Given the description of an element on the screen output the (x, y) to click on. 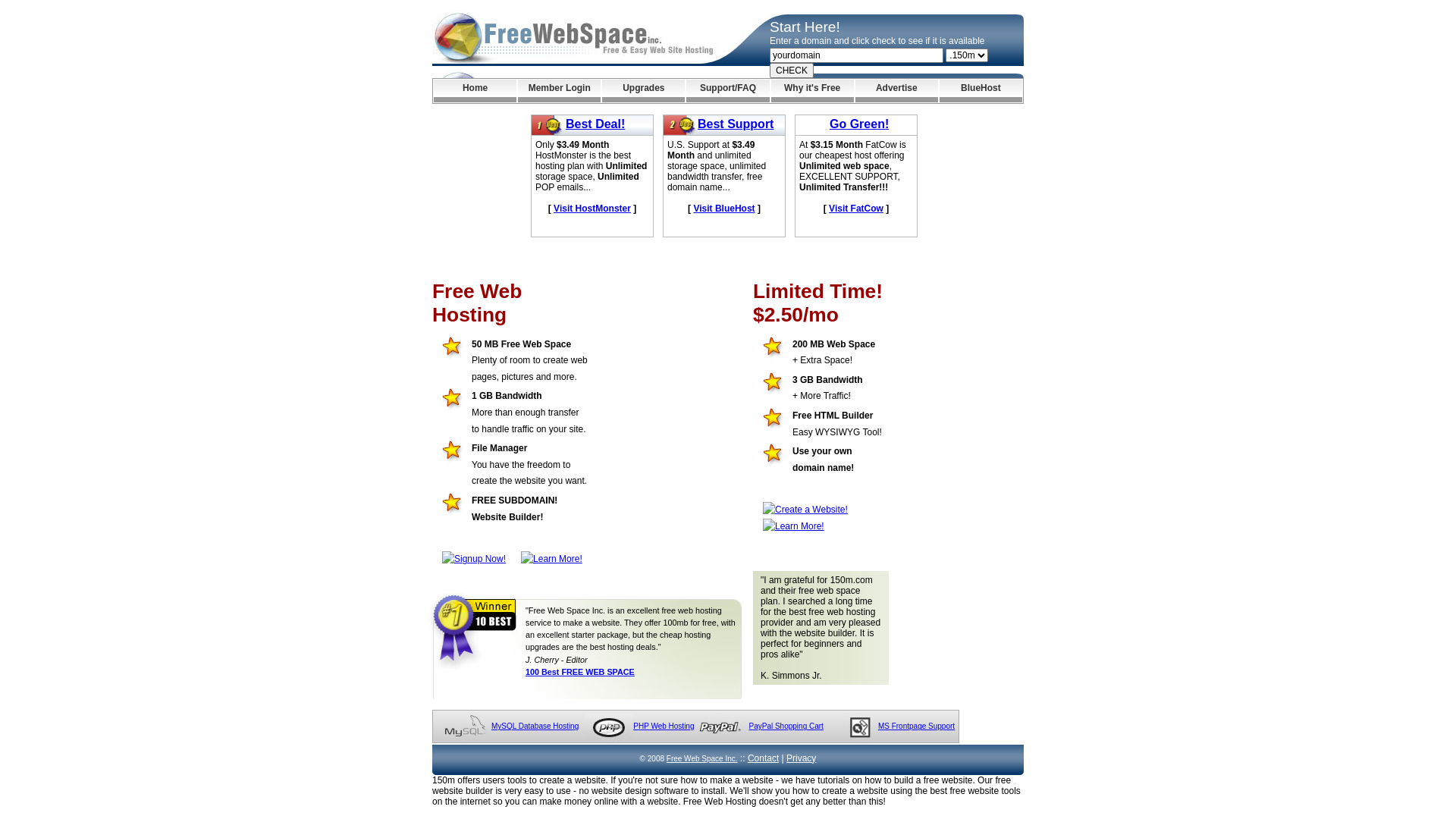
Advertise Element type: text (896, 90)
100 Best FREE WEB SPACE Element type: text (579, 671)
MS Frontpage Support Element type: text (916, 725)
MySQL Database Hosting Element type: text (534, 725)
PHP Web Hosting Element type: text (663, 725)
Member Login Element type: text (558, 90)
Upgrades Element type: text (643, 90)
PayPal Shopping Cart Element type: text (785, 725)
Support/FAQ Element type: text (727, 90)
BlueHost Element type: text (980, 90)
Contact Element type: text (762, 758)
Home Element type: text (474, 90)
Free Web Space Inc. Element type: text (701, 758)
CHECK Element type: text (791, 70)
Privacy Element type: text (800, 758)
Why it's Free Element type: text (812, 90)
